Given the description of an element on the screen output the (x, y) to click on. 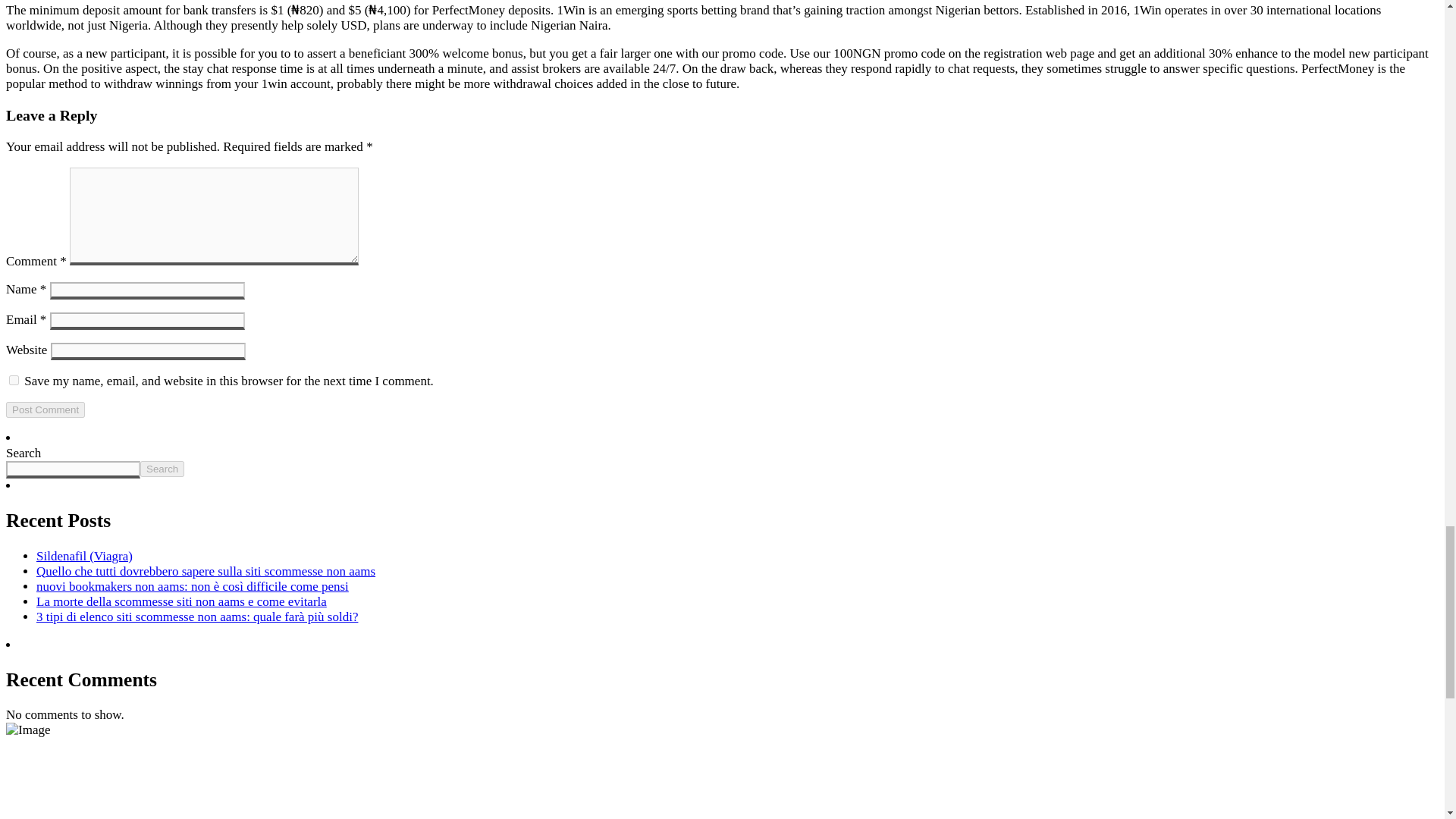
La morte della scommesse siti non aams e come evitarla (181, 601)
Post Comment (44, 409)
Search (161, 468)
yes (13, 379)
Post Comment (44, 409)
